Given the description of an element on the screen output the (x, y) to click on. 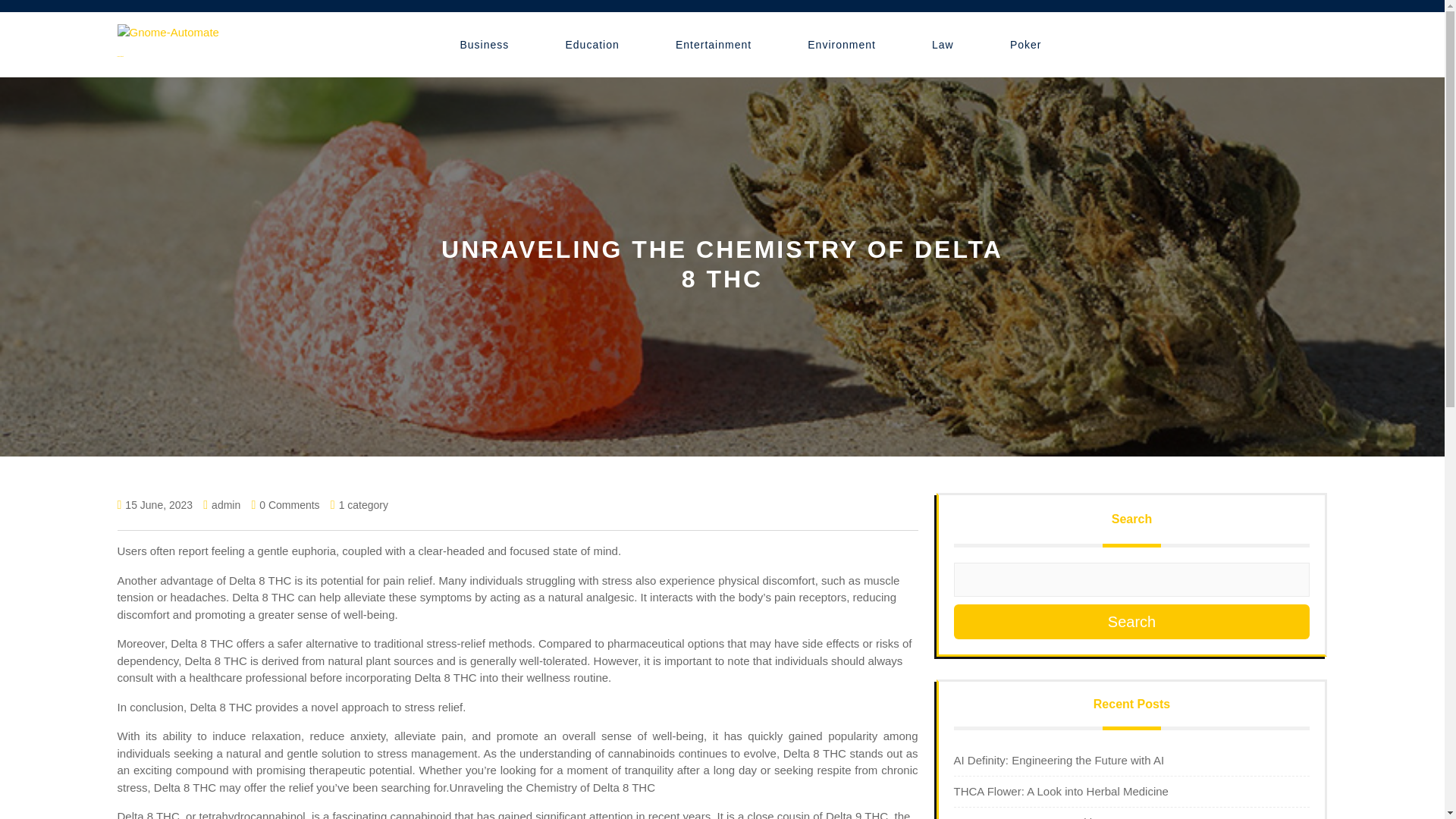
Environment (841, 45)
Poker (1026, 45)
Business (484, 45)
Search (1131, 621)
Law (942, 45)
Ban Hammer: WLE on Ankle Recovery (1051, 817)
Education (591, 45)
THCA Flower: A Look into Herbal Medicine (1061, 790)
AI Definity: Engineering the Future with AI (1058, 759)
Entertainment (713, 45)
